Given the description of an element on the screen output the (x, y) to click on. 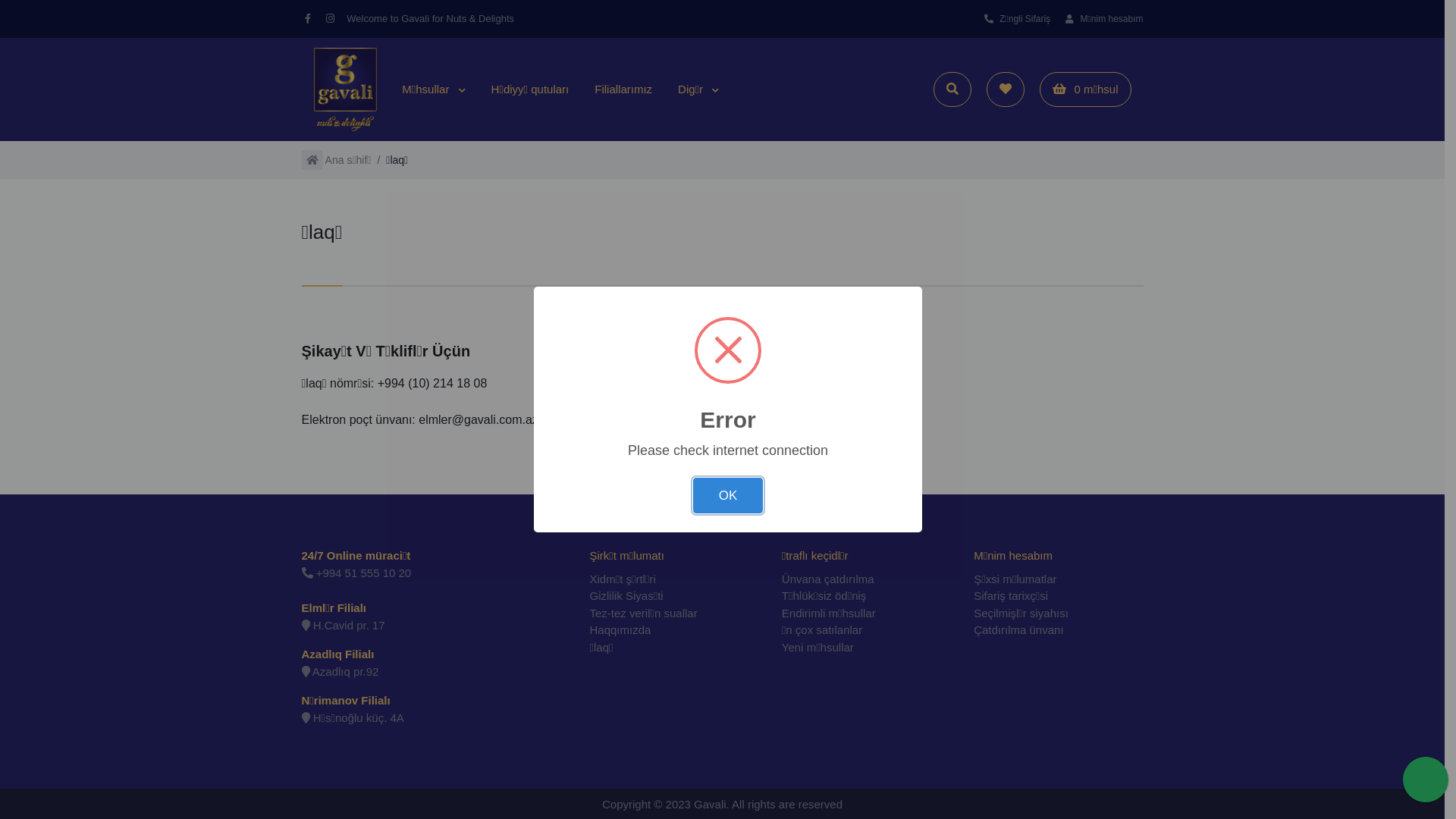
OK Element type: text (728, 495)
